Given the description of an element on the screen output the (x, y) to click on. 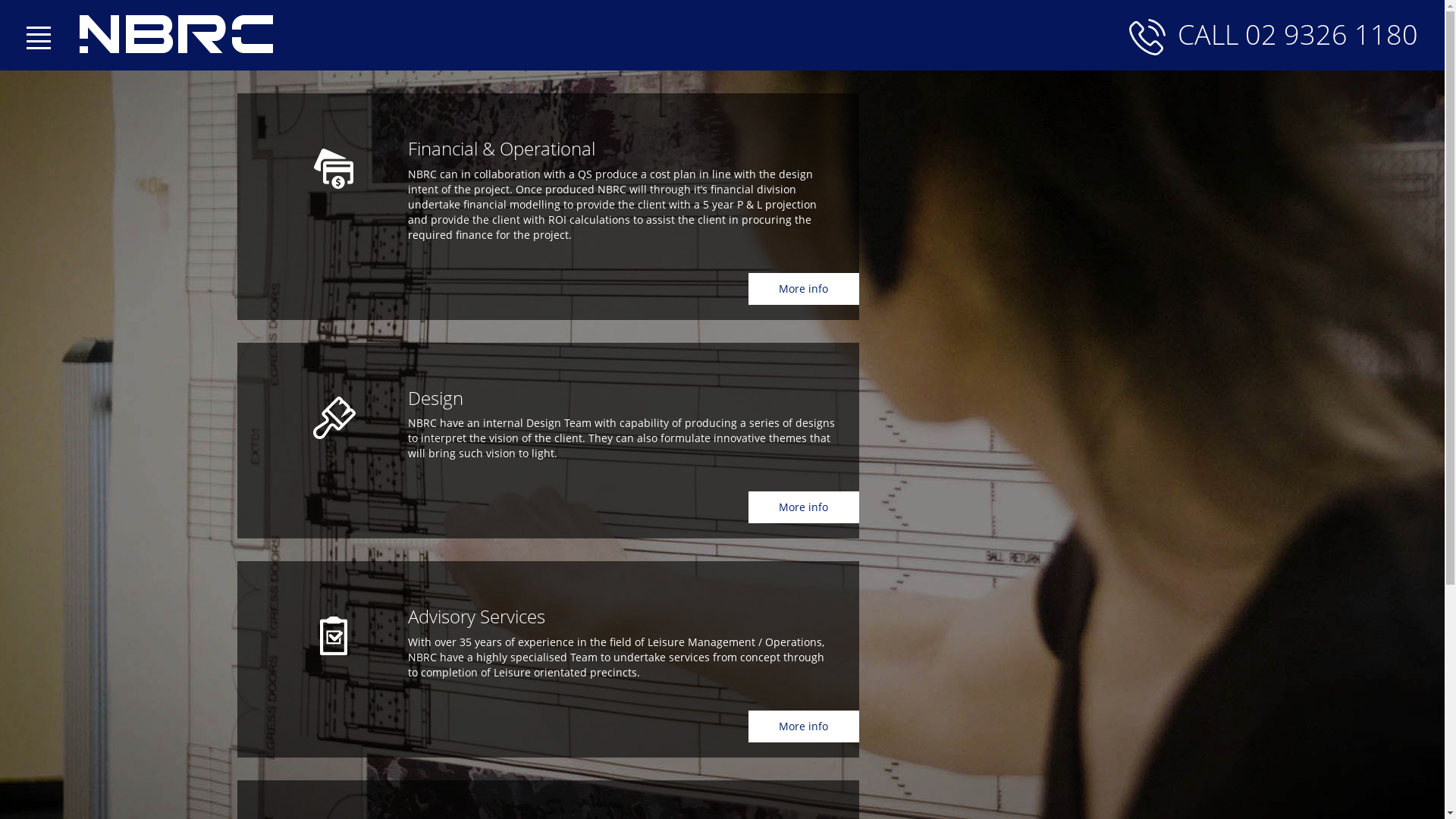
More info Element type: text (802, 288)
More info Element type: text (802, 726)
More info Element type: text (802, 507)
02 9326 1180 Element type: text (1331, 34)
